Given the description of an element on the screen output the (x, y) to click on. 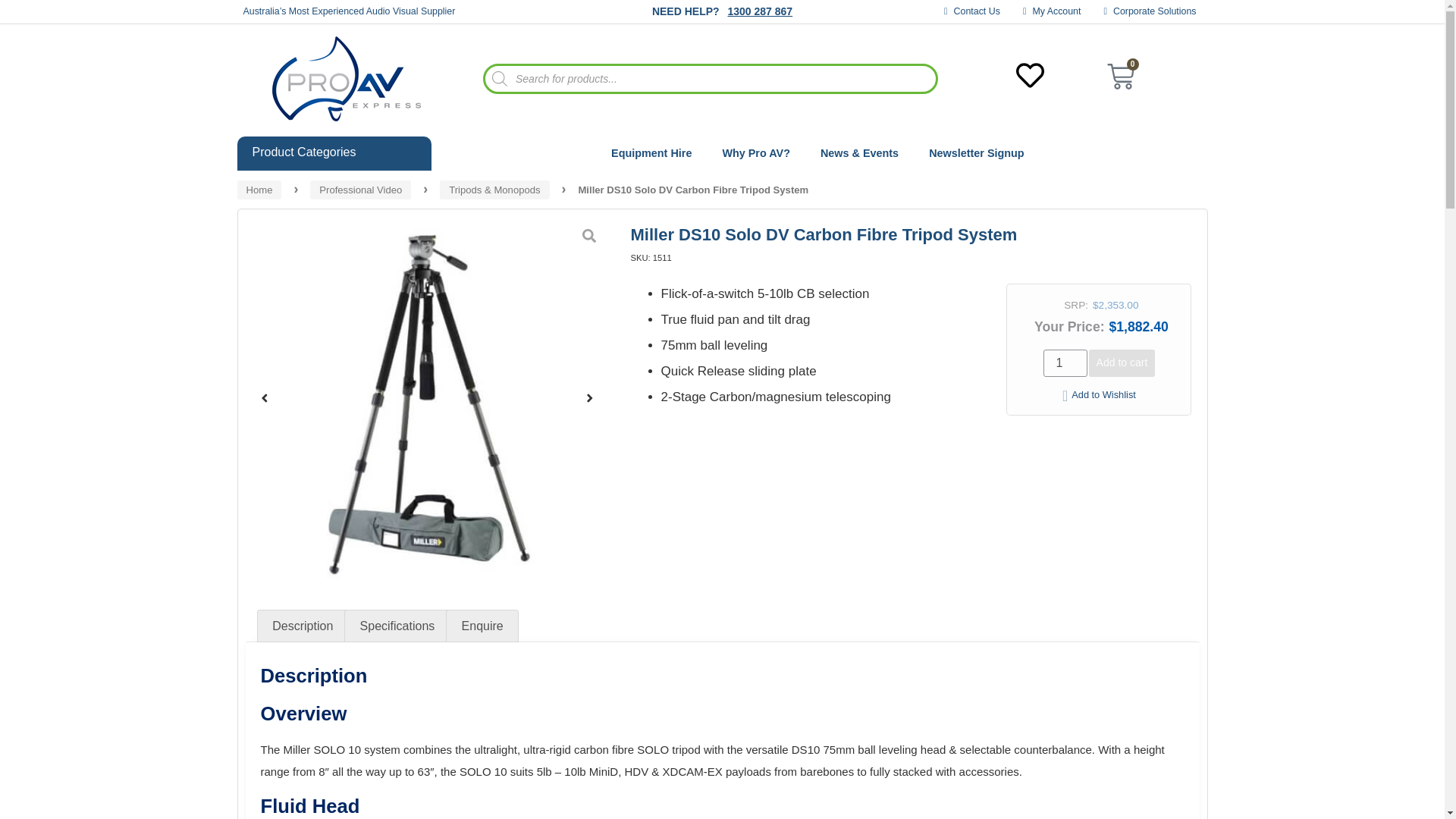
My Account (1052, 10)
1300 287 867 (759, 10)
0 (1120, 78)
Product Categories (332, 153)
DS10 Solo DV Carbon Fibre Tripod System 1 (427, 398)
Contact Us (971, 10)
Corporate Solutions (1149, 10)
1 (1065, 362)
